Given the description of an element on the screen output the (x, y) to click on. 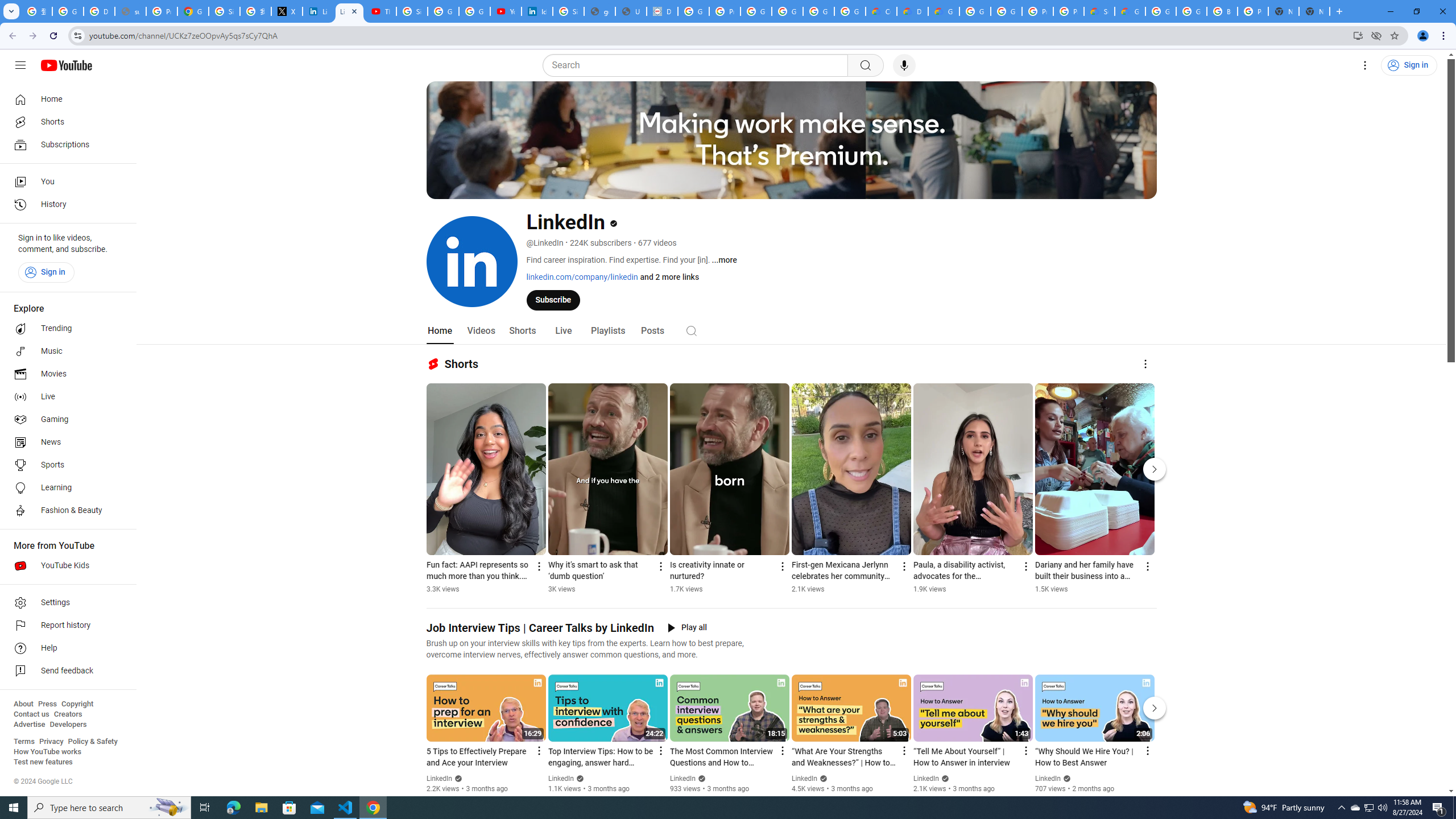
LinkedIn Privacy Policy (318, 11)
Music (64, 350)
Shorts (64, 121)
Support Hub | Google Cloud (1098, 11)
YouTube Home (66, 65)
Google Cloud Platform (1190, 11)
Customer Care | Google Cloud (881, 11)
New Tab (1314, 11)
Google Cloud Platform (974, 11)
News (64, 441)
Guide (20, 65)
Verified (1065, 777)
